Given the description of an element on the screen output the (x, y) to click on. 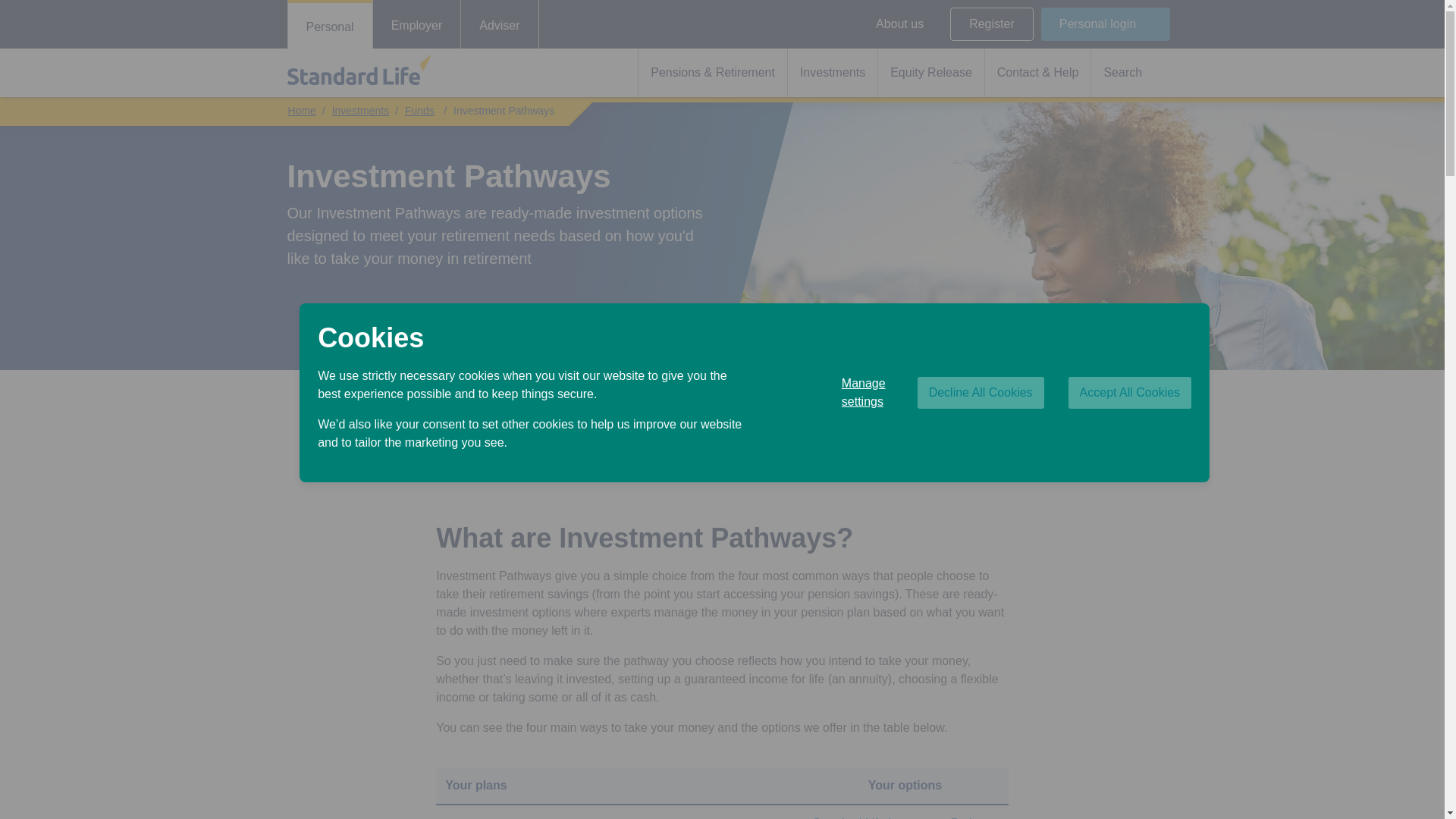
Adviser (499, 24)
Accept All Cookies (1130, 392)
About us (899, 24)
menu (931, 24)
Equity Release (930, 72)
Search (1129, 72)
Employer (416, 24)
Login (1105, 24)
Adviser (499, 24)
Personal (330, 25)
Decline All Cookies (980, 392)
Personal login (1105, 24)
Investments (832, 72)
Register (991, 23)
Personal (330, 25)
